Given the description of an element on the screen output the (x, y) to click on. 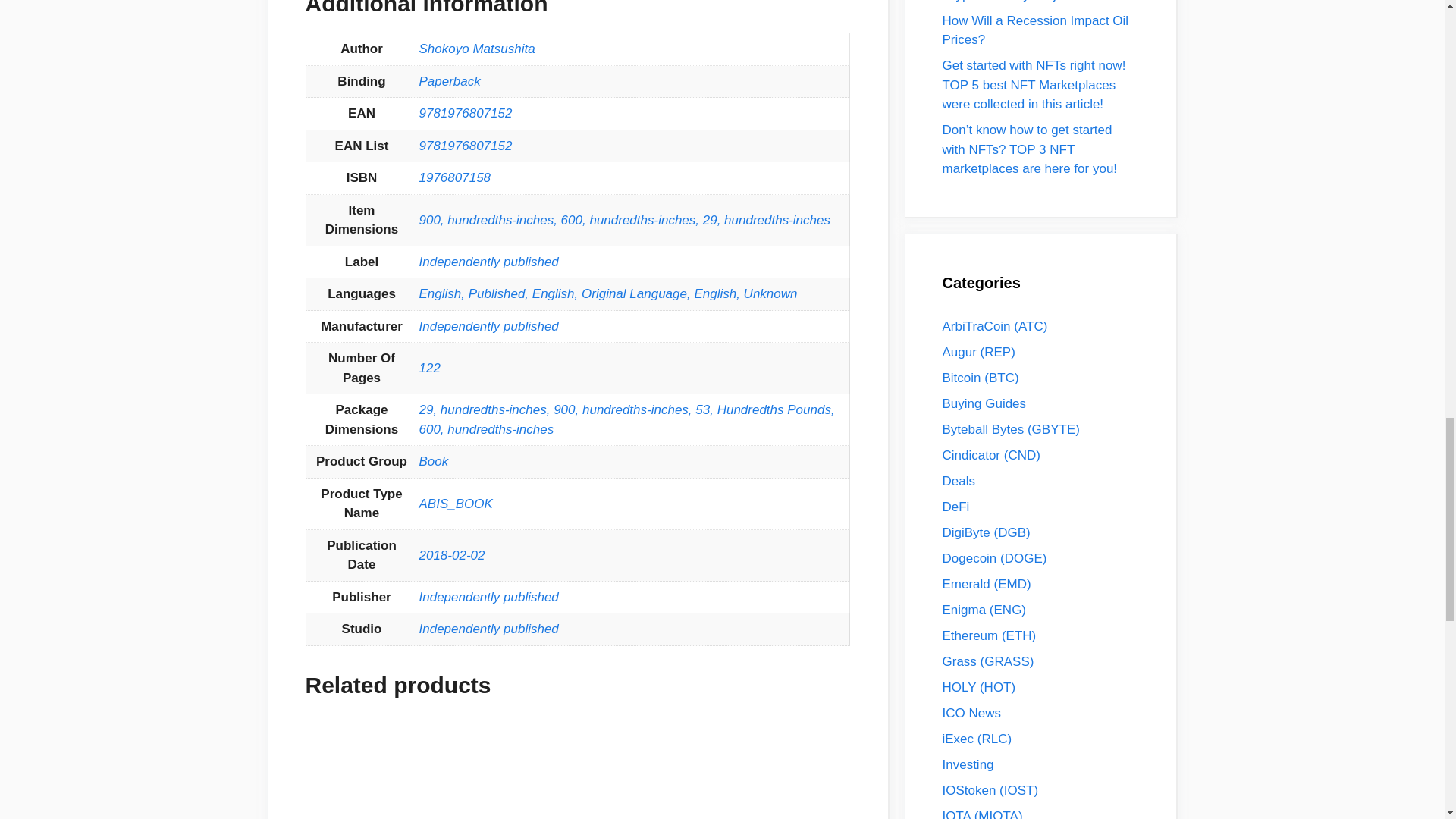
9781976807152 (465, 113)
Independently published (488, 261)
Shokoyo Matsushita (476, 48)
1976807158 (454, 177)
9781976807152 (465, 145)
Paperback (449, 81)
